Given the description of an element on the screen output the (x, y) to click on. 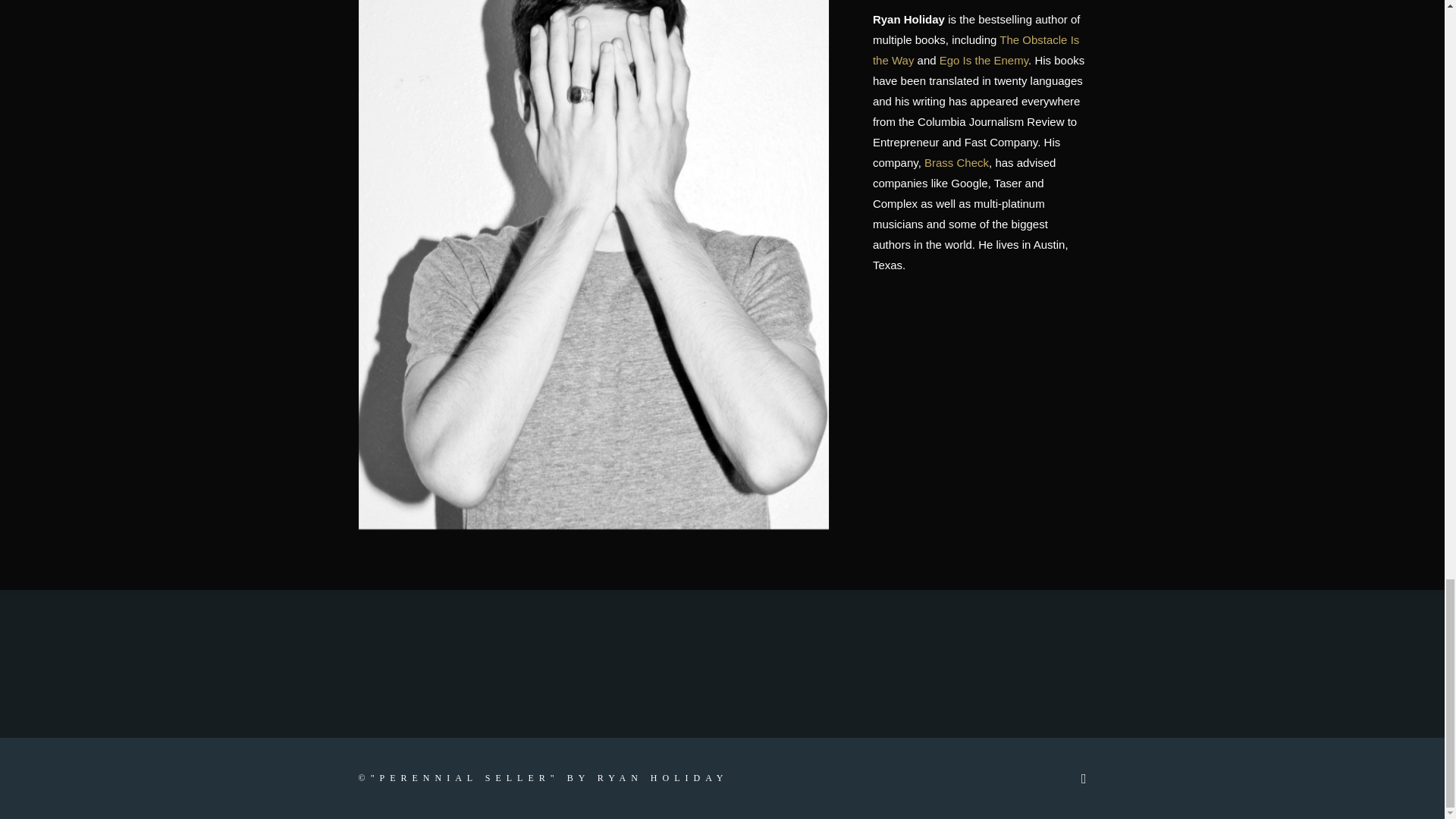
Brass Check (960, 162)
"Perennial Seller" by Ryan Holiday (550, 777)
The Obstacle Is the Way (980, 49)
Ego Is the Enemy (987, 60)
"PERENNIAL SELLER" BY RYAN HOLIDAY (550, 777)
